Given the description of an element on the screen output the (x, y) to click on. 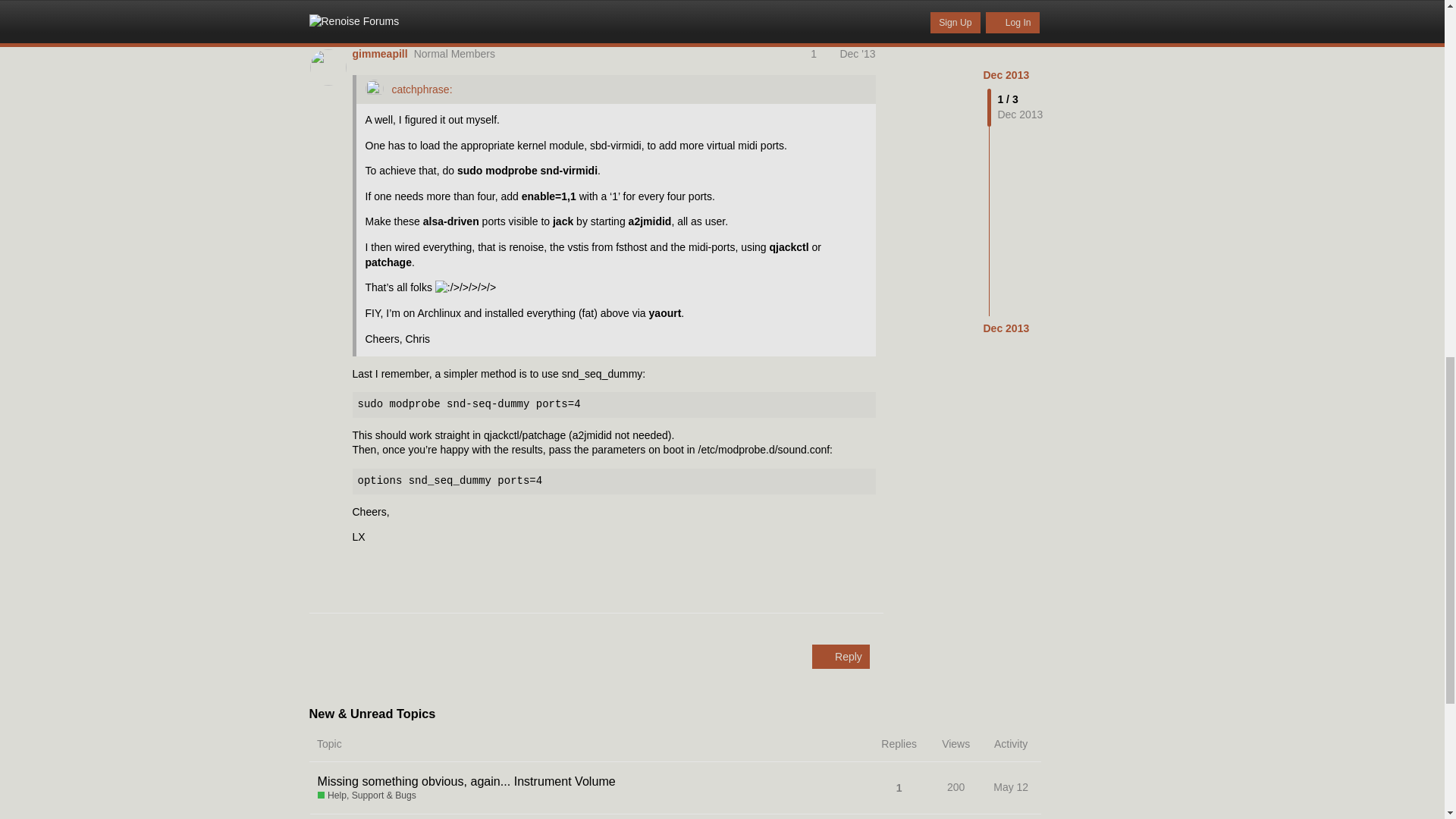
1 (820, 53)
1 Reply (376, 11)
gimmeapill (379, 54)
Dec '13 (857, 53)
